Given the description of an element on the screen output the (x, y) to click on. 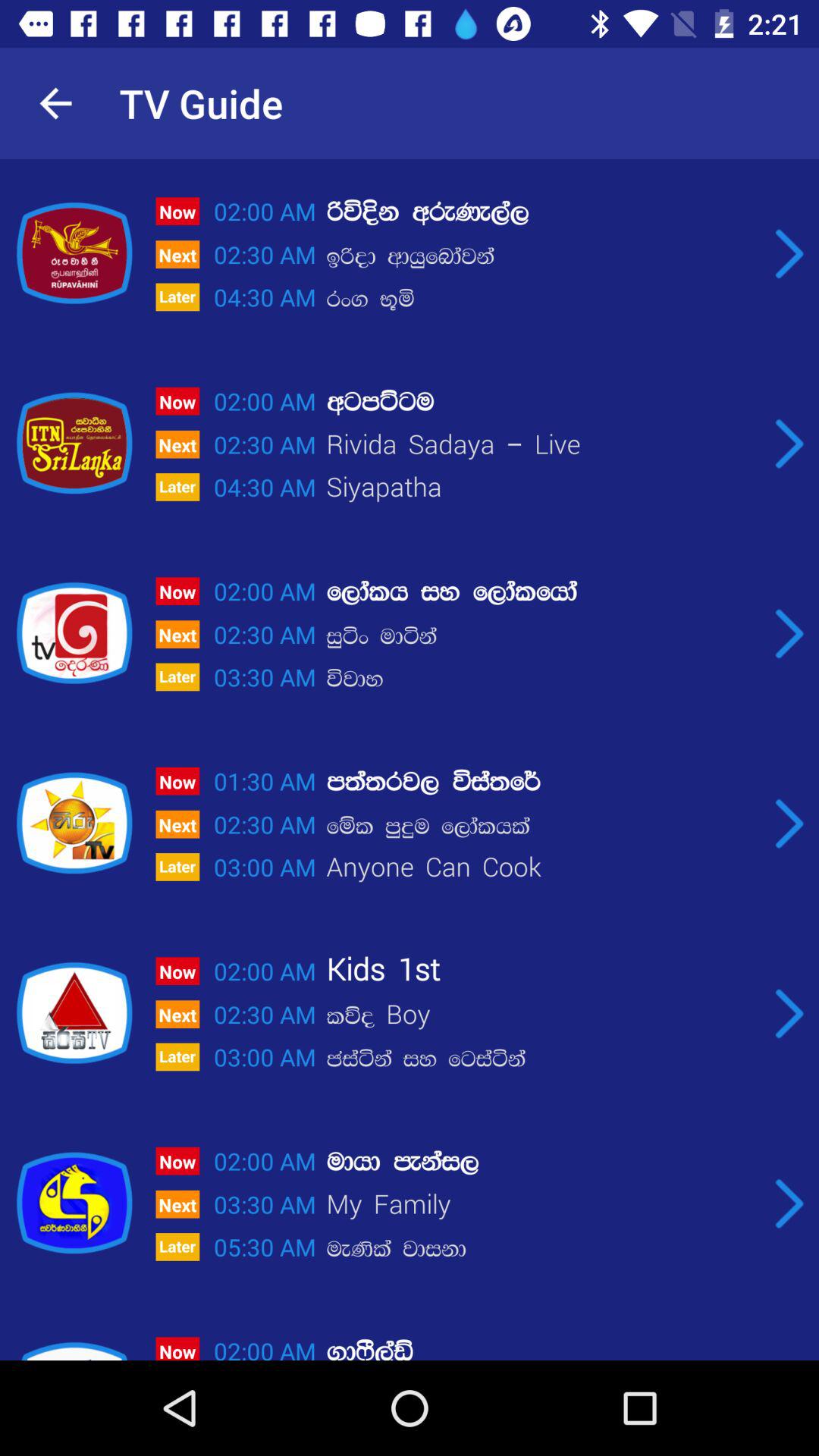
choose item to the right of 03:30 am item (542, 1248)
